Given the description of an element on the screen output the (x, y) to click on. 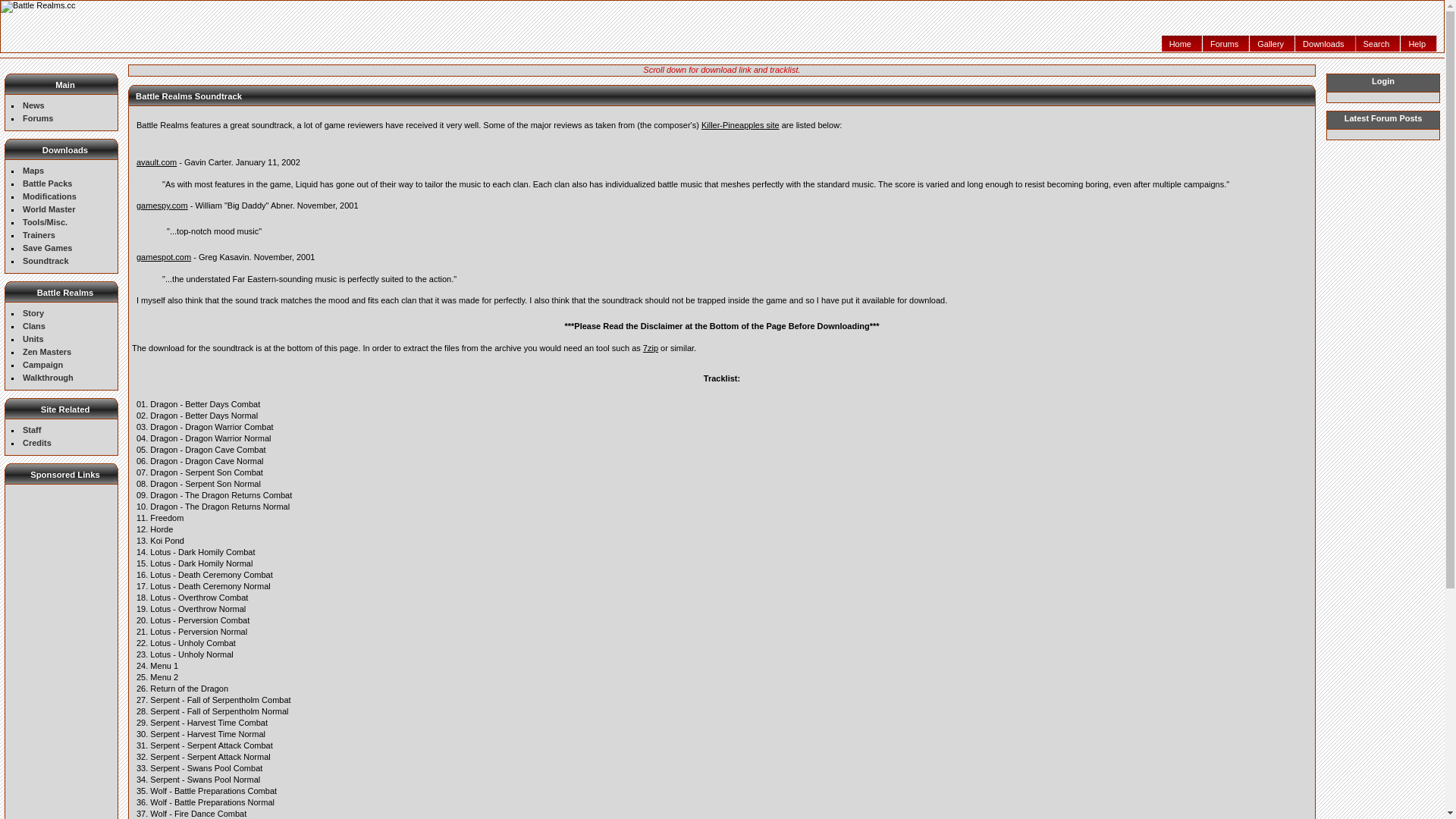
Home Element type: text (1181, 43)
News Element type: text (33, 104)
Battle Packs Element type: text (47, 183)
Campaign Element type: text (42, 364)
gamespot.com Element type: text (163, 256)
gamespy.com Element type: text (162, 205)
Maps Element type: text (32, 170)
Killer-Pineapples site Element type: text (740, 124)
Credits Element type: text (36, 442)
Tools/Misc. Element type: text (44, 221)
Clans Element type: text (33, 325)
Modifications Element type: text (49, 195)
Downloads Element type: text (1325, 43)
Forums Element type: text (37, 117)
Help Element type: text (1418, 43)
Staff Element type: text (31, 429)
Soundtrack Element type: text (45, 260)
Trainers Element type: text (38, 234)
Gallery Element type: text (1272, 43)
Search Element type: text (1378, 43)
avault.com Element type: text (156, 161)
7zip Element type: text (650, 347)
Forums Element type: text (1225, 43)
Save Games Element type: text (47, 247)
World Master Element type: text (48, 208)
Walkthrough Element type: text (47, 377)
Story Element type: text (32, 312)
Zen Masters Element type: text (46, 351)
Units Element type: text (32, 338)
